Given the description of an element on the screen output the (x, y) to click on. 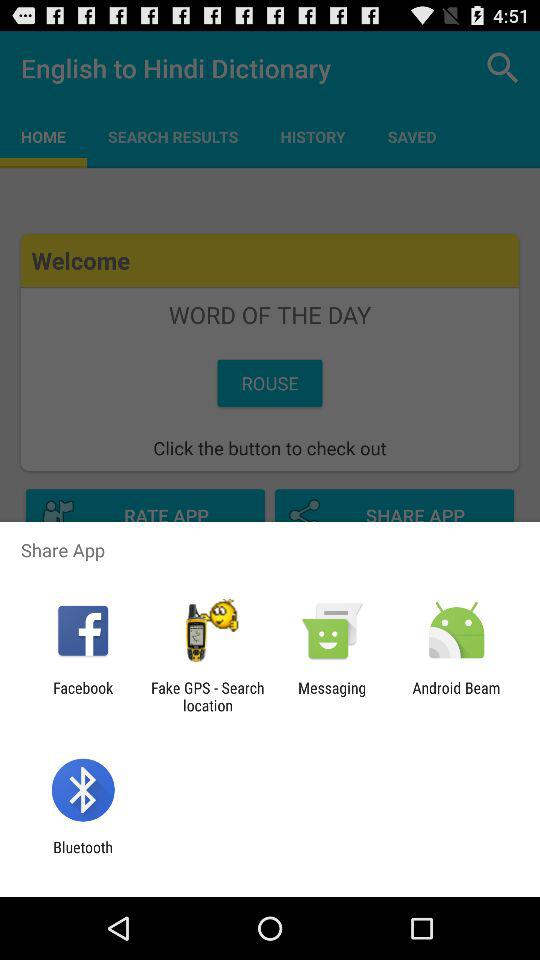
press item to the left of the fake gps search app (83, 696)
